Given the description of an element on the screen output the (x, y) to click on. 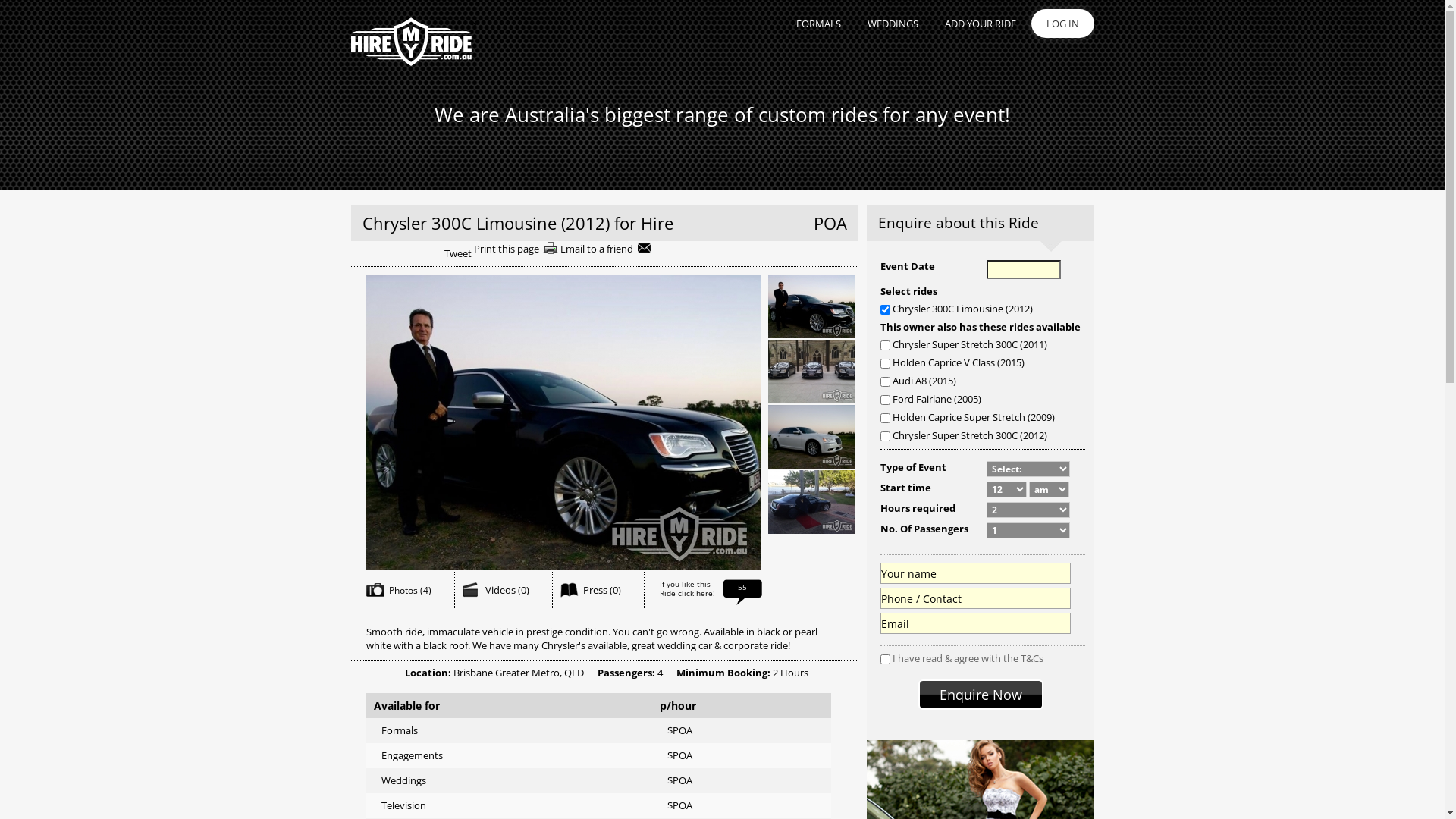
WEDDINGS Element type: text (886, 23)
Enquire Now Element type: text (979, 694)
Email to a friend Element type: text (605, 248)
Photos (4) Element type: text (409, 589)
2795 Element type: text (884, 436)
2623 Element type: text (884, 381)
2622 Element type: text (884, 363)
2777 Element type: text (884, 418)
Tweet Element type: text (457, 253)
2624 Element type: text (884, 399)
FORMALS Element type: text (812, 23)
Print this page Element type: text (515, 248)
ADD YOUR RIDE Element type: text (973, 23)
LOG IN Element type: text (1062, 23)
If you like this
Ride click here!
55 Element type: text (710, 596)
I have read & agree with the T&Cs Element type: text (966, 658)
2612 Element type: text (884, 345)
2613 Element type: text (884, 309)
